Given the description of an element on the screen output the (x, y) to click on. 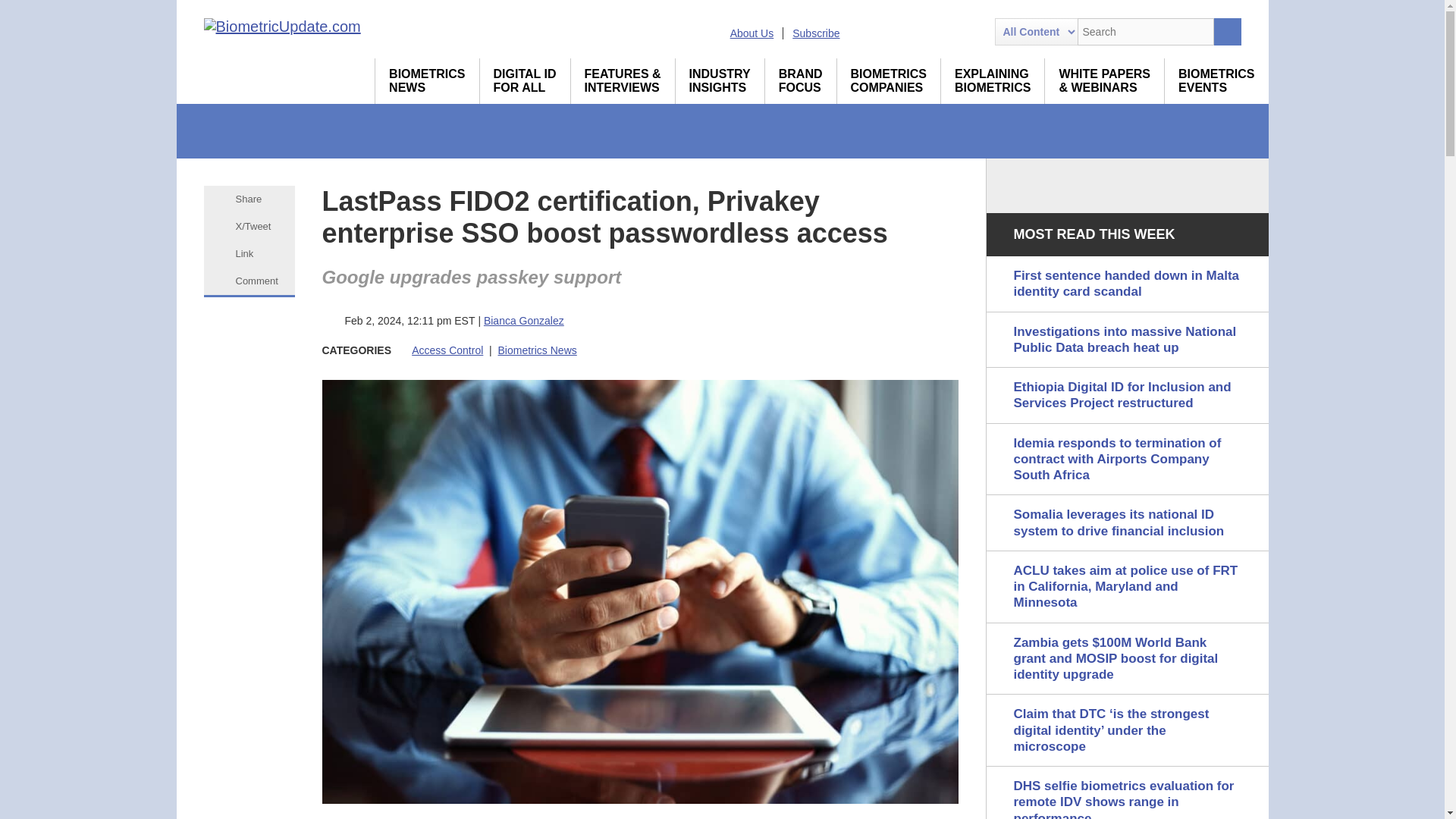
facebook (944, 31)
linkedin (427, 81)
About Us (890, 31)
Trade shows featuring biometrics technology (751, 33)
Resources: White Papers, Webinars and Explainers (1216, 81)
Daily biometrics news and interviews (1104, 81)
Guest posts written by biometrics industry experts  (427, 81)
Biometrics and digital ID initiatives in developing nations (719, 81)
Biometrics companies, solutions and applications (525, 81)
